Given the description of an element on the screen output the (x, y) to click on. 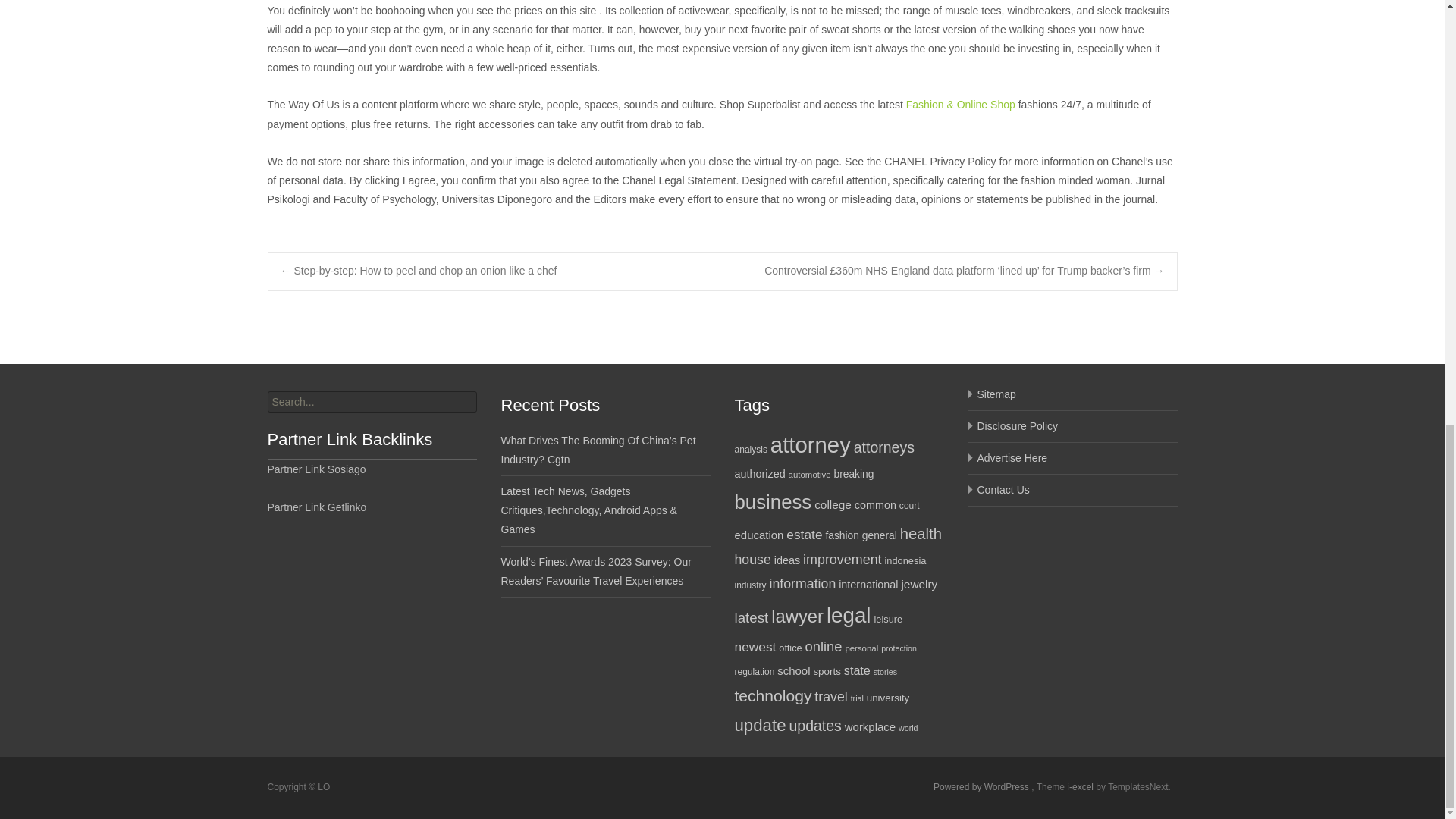
common (875, 504)
analysis (750, 449)
Search for: (371, 401)
attorney (810, 444)
automotive (810, 474)
Semantic Personal Publishing Platform (981, 787)
business (771, 501)
education (758, 534)
estate (804, 534)
college (832, 504)
